Given the description of an element on the screen output the (x, y) to click on. 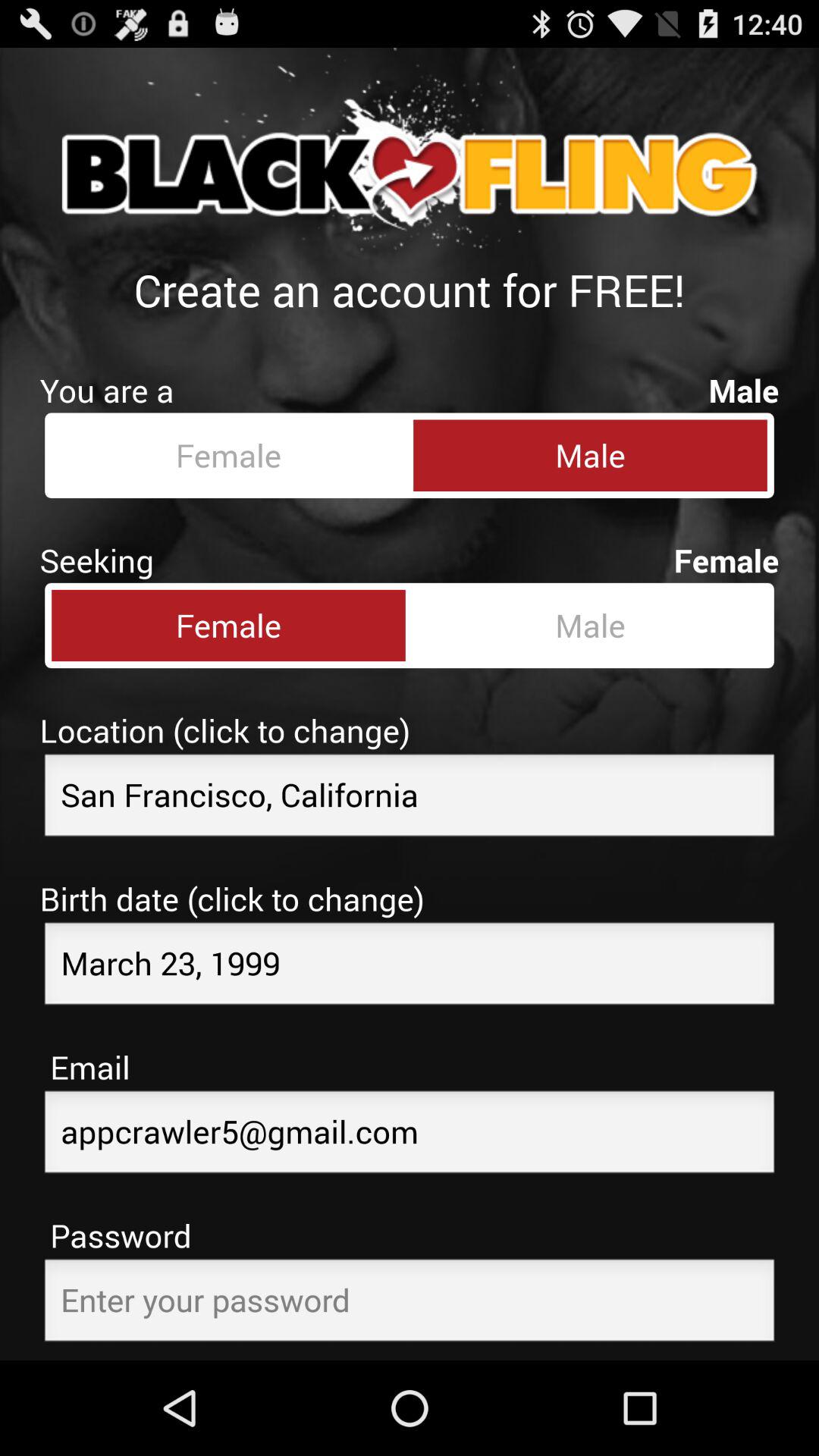
birth date text entry field (409, 967)
